Given the description of an element on the screen output the (x, y) to click on. 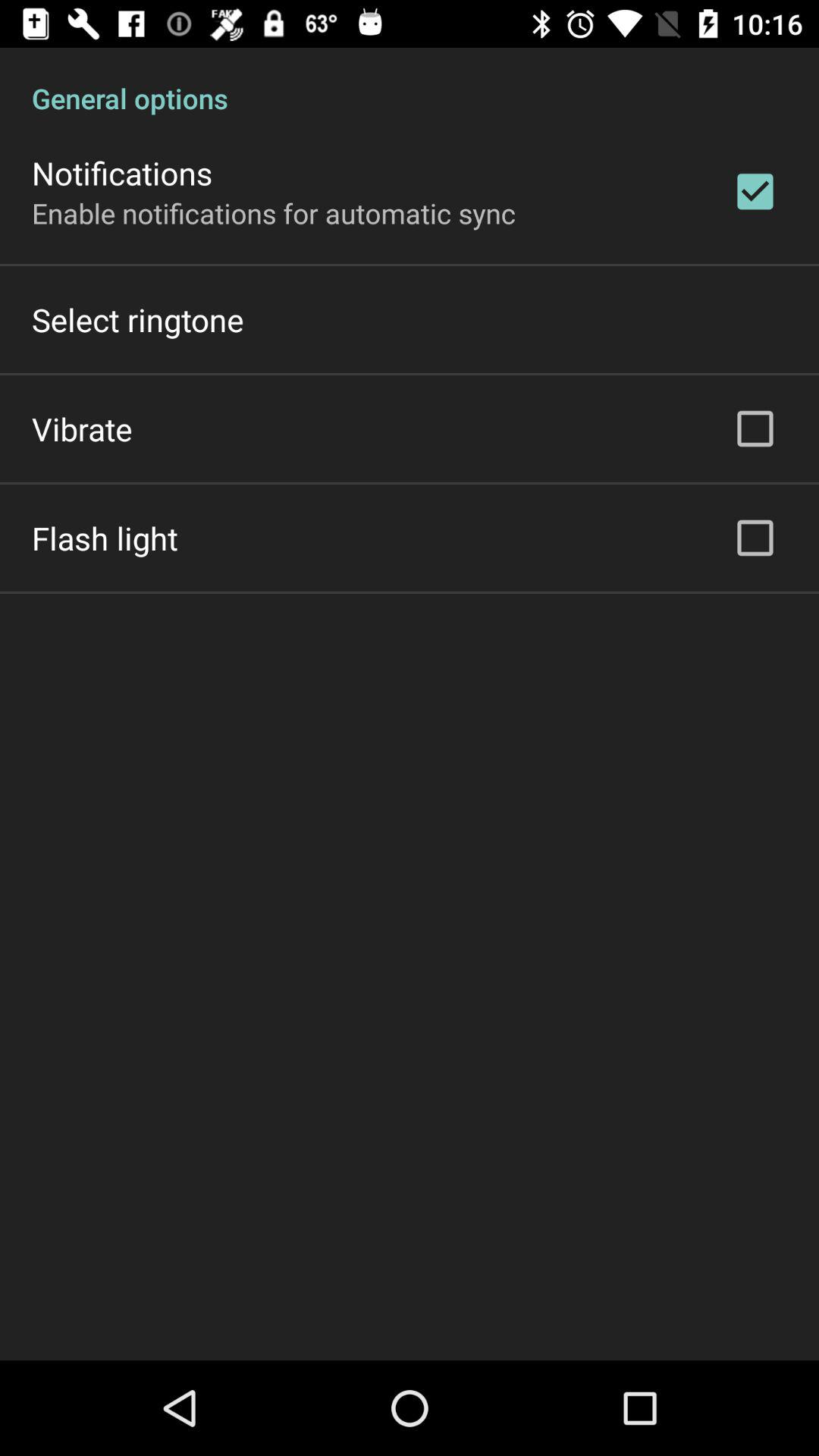
open the enable notifications for item (273, 213)
